Given the description of an element on the screen output the (x, y) to click on. 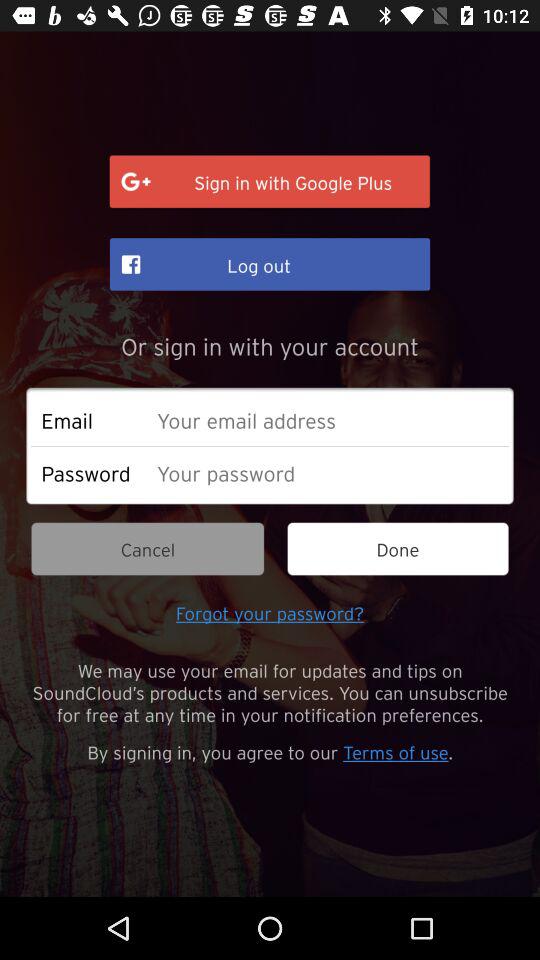
tap icon above or sign in (269, 264)
